Given the description of an element on the screen output the (x, y) to click on. 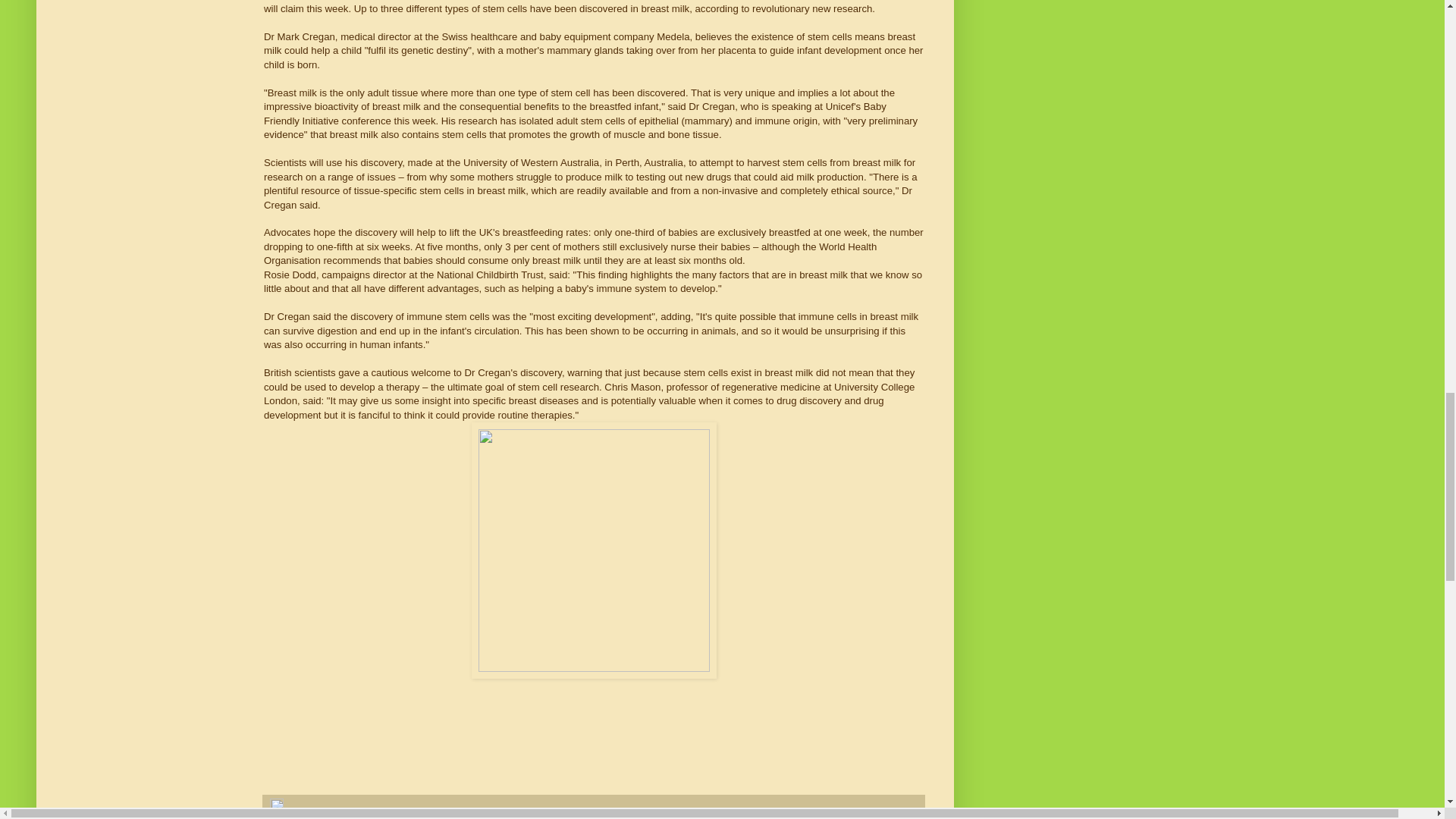
Share to Facebook (433, 818)
Email This (288, 818)
Share to Twitter (370, 818)
Share to Twitter (370, 818)
Edit Post (276, 809)
Email This (288, 818)
BlogThis! (324, 818)
Share to Pinterest (501, 818)
Share to Facebook (433, 818)
BlogThis! (324, 818)
Share to Pinterest (501, 818)
